Given the description of an element on the screen output the (x, y) to click on. 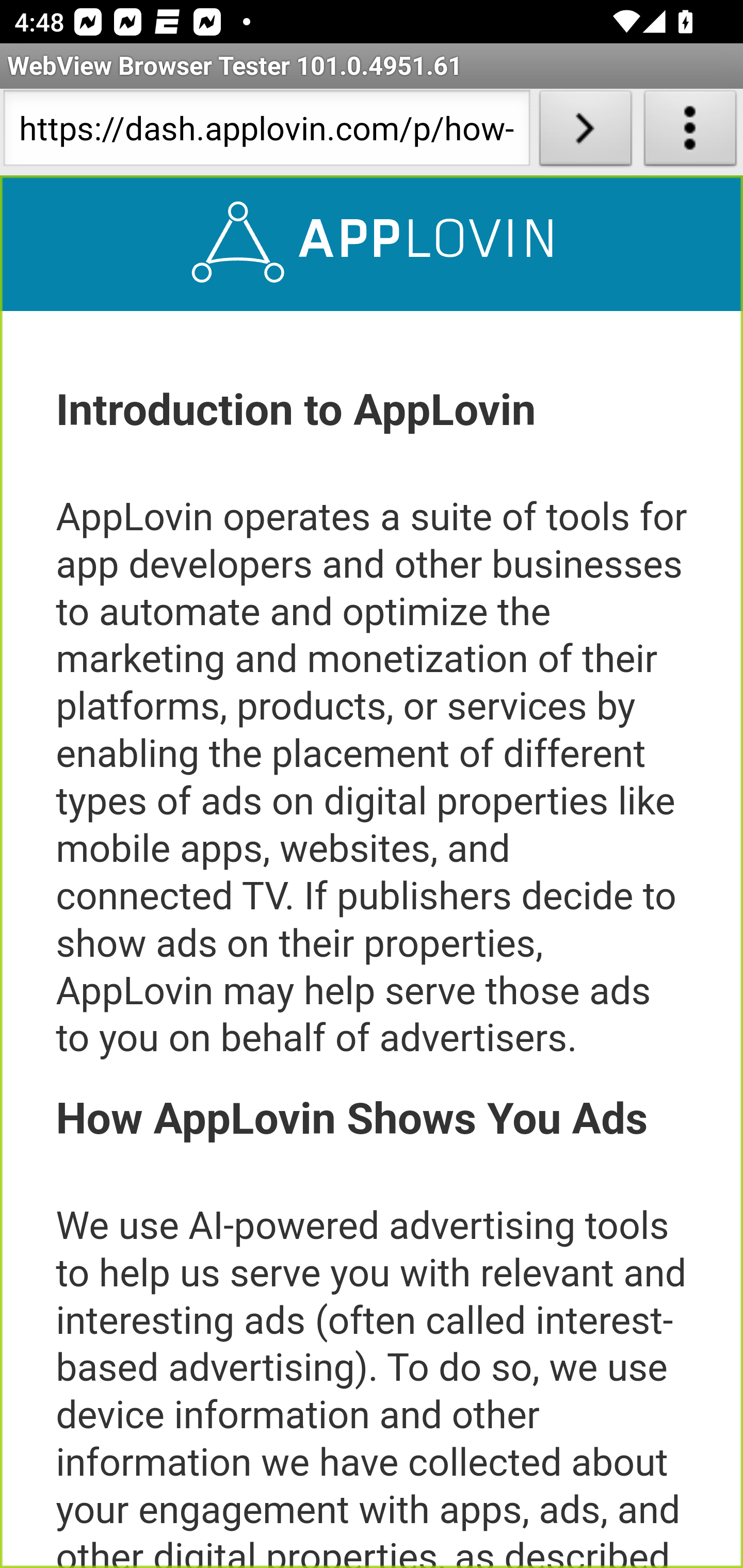
Load URL (585, 132)
About WebView (690, 132)
